Given the description of an element on the screen output the (x, y) to click on. 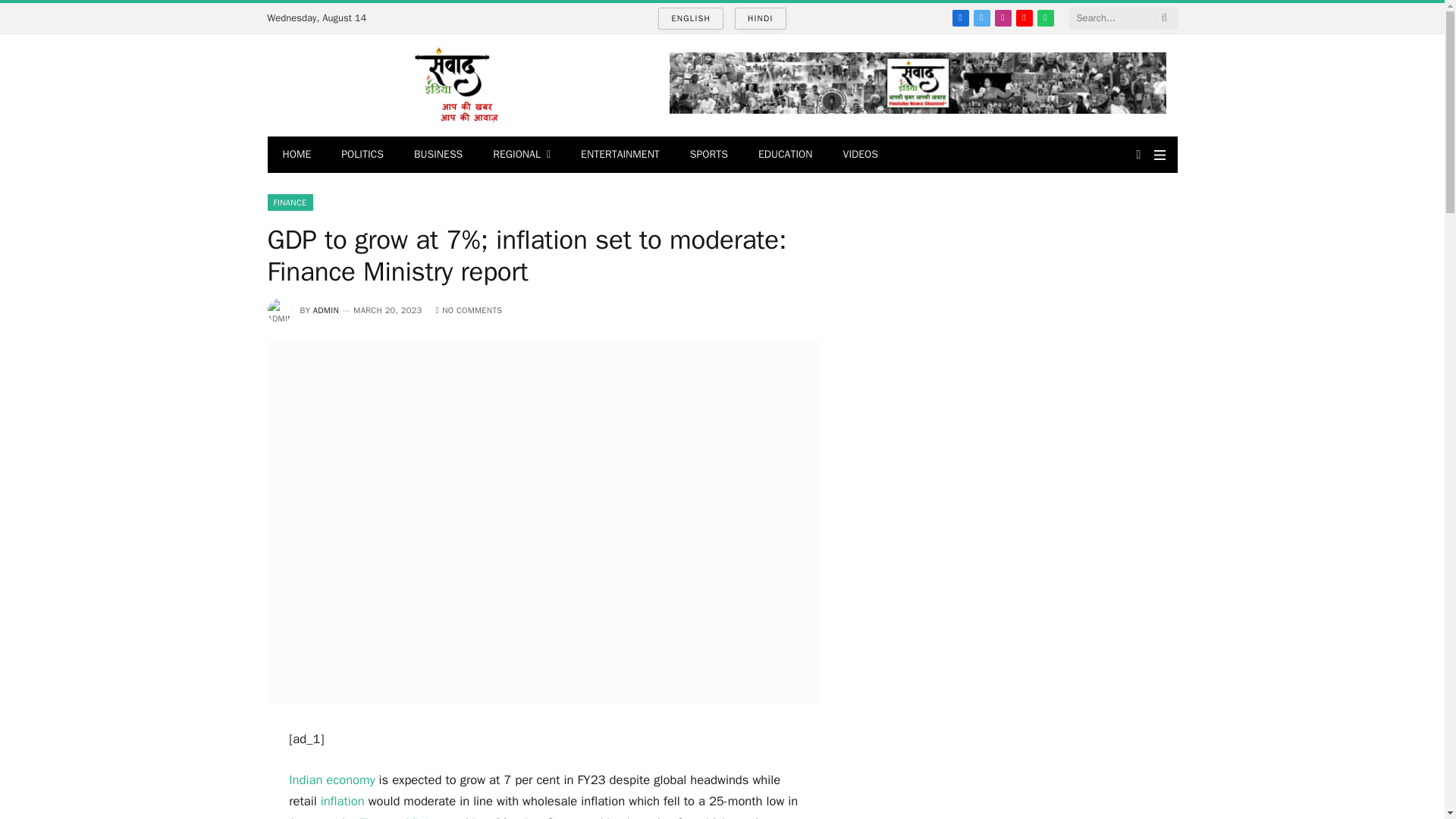
POLITICS (362, 154)
Twitter (982, 17)
BUSINESS (437, 154)
HINDI (760, 18)
HOME (296, 154)
SPORTS (708, 154)
YouTube (1024, 17)
Facebook (960, 17)
EDUCATION (785, 154)
Instagram (1002, 17)
